Given the description of an element on the screen output the (x, y) to click on. 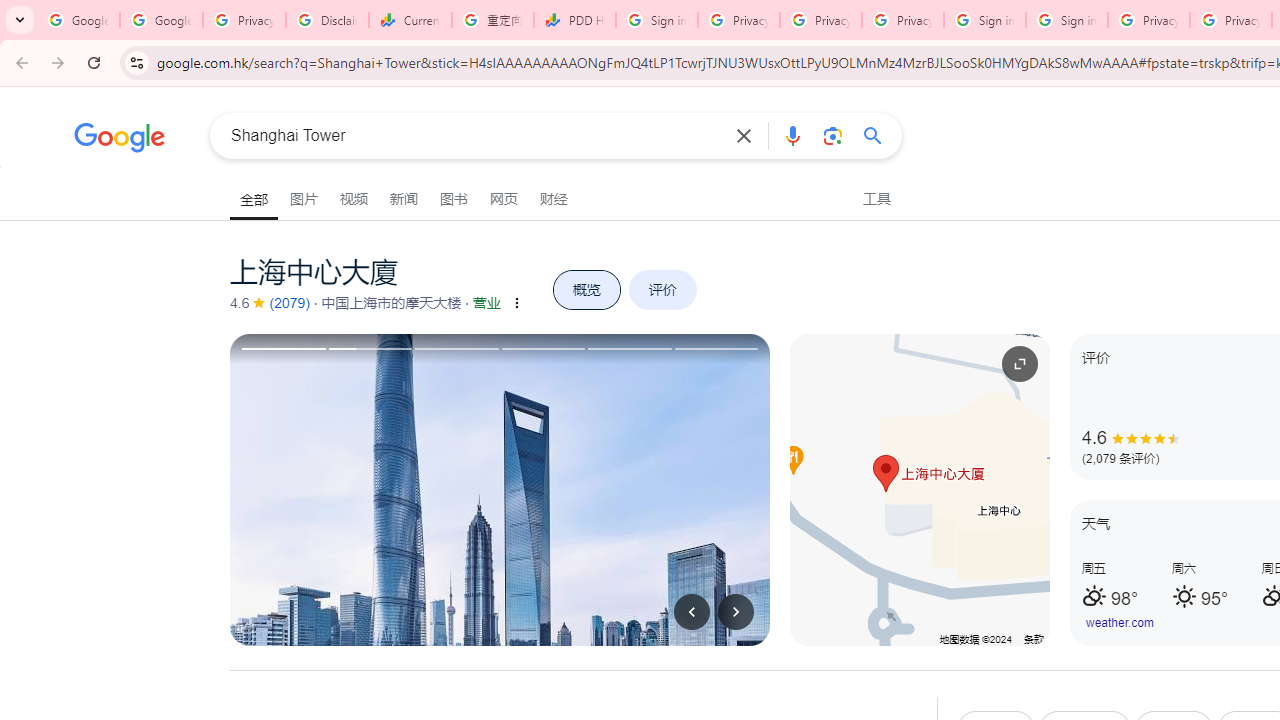
Google Workspace Admin Community (78, 20)
Sign in - Google Accounts (656, 20)
